Given the description of an element on the screen output the (x, y) to click on. 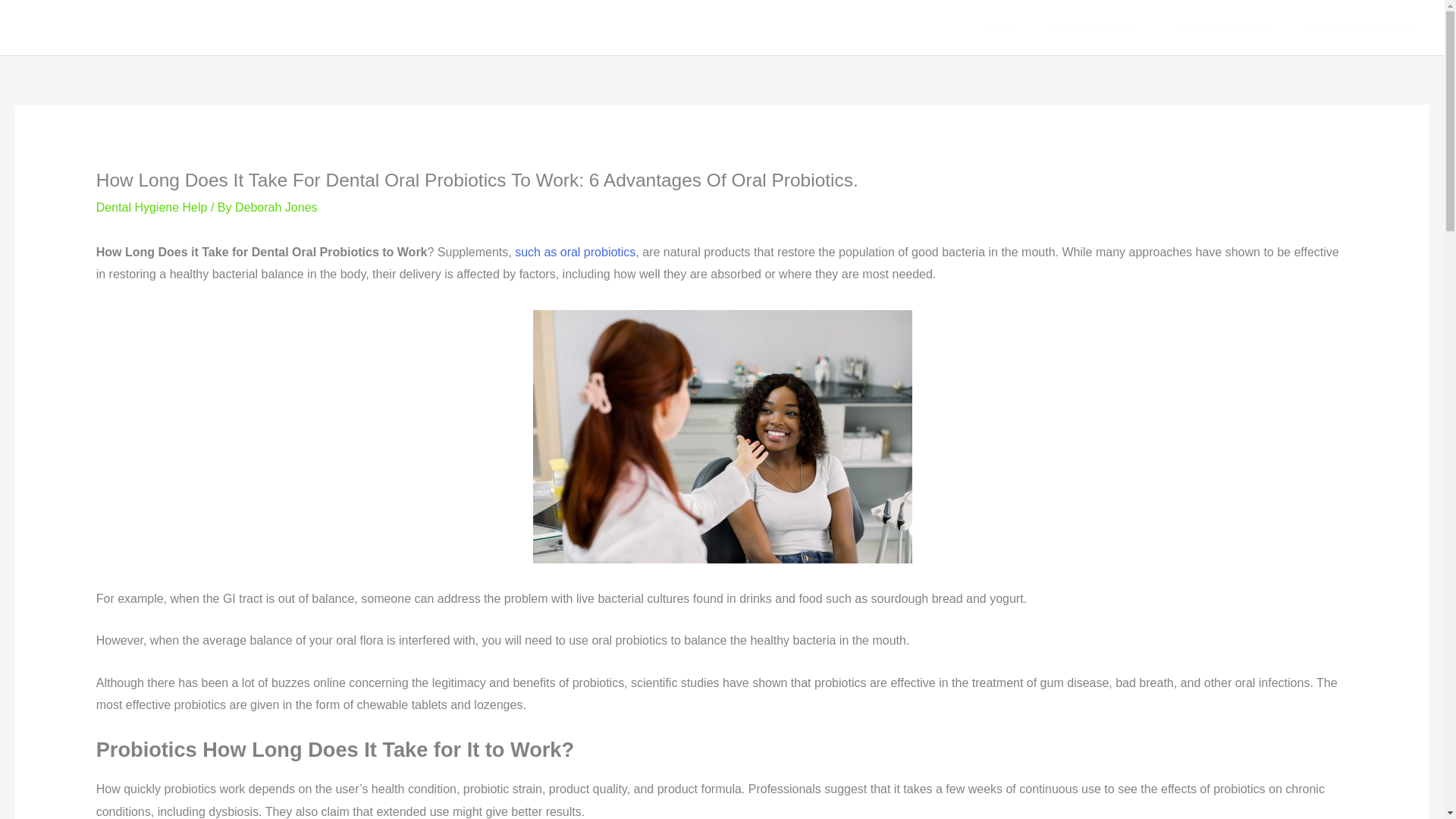
Dental Hygiene Help (1358, 27)
Dental Hygiene Help (152, 206)
Weight Loss Help (1224, 27)
such as oral probiotics (574, 251)
Product Reviews (1096, 27)
Crossfitvert.com (104, 26)
Home (999, 27)
Deborah Jones (275, 206)
View all posts by Deborah Jones (275, 206)
